Given the description of an element on the screen output the (x, y) to click on. 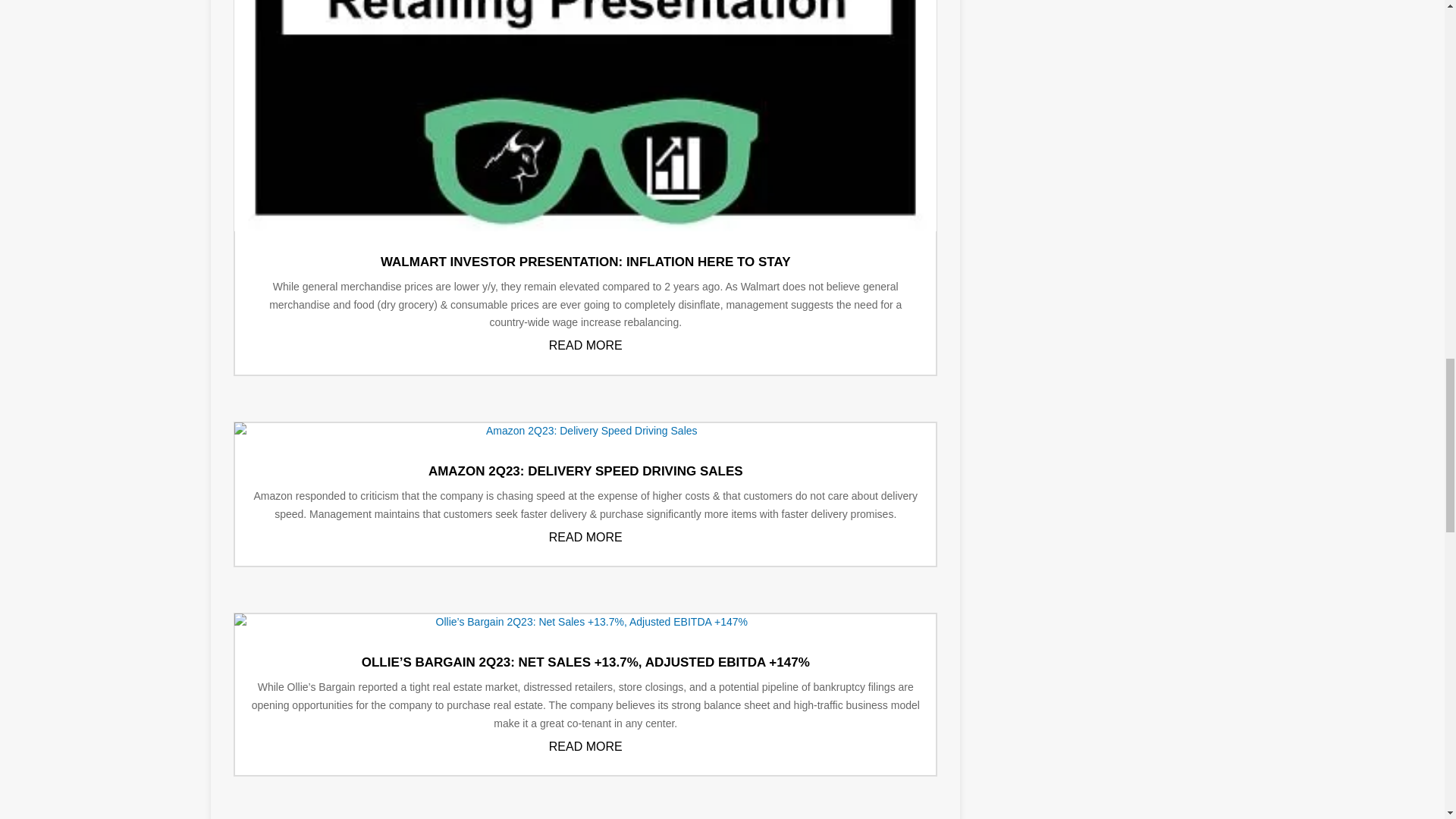
READ MORE (585, 536)
WALMART INVESTOR PRESENTATION: INFLATION HERE TO STAY (585, 261)
READ MORE (585, 746)
READ MORE (585, 345)
AMAZON 2Q23: DELIVERY SPEED DRIVING SALES (585, 471)
